Given the description of an element on the screen output the (x, y) to click on. 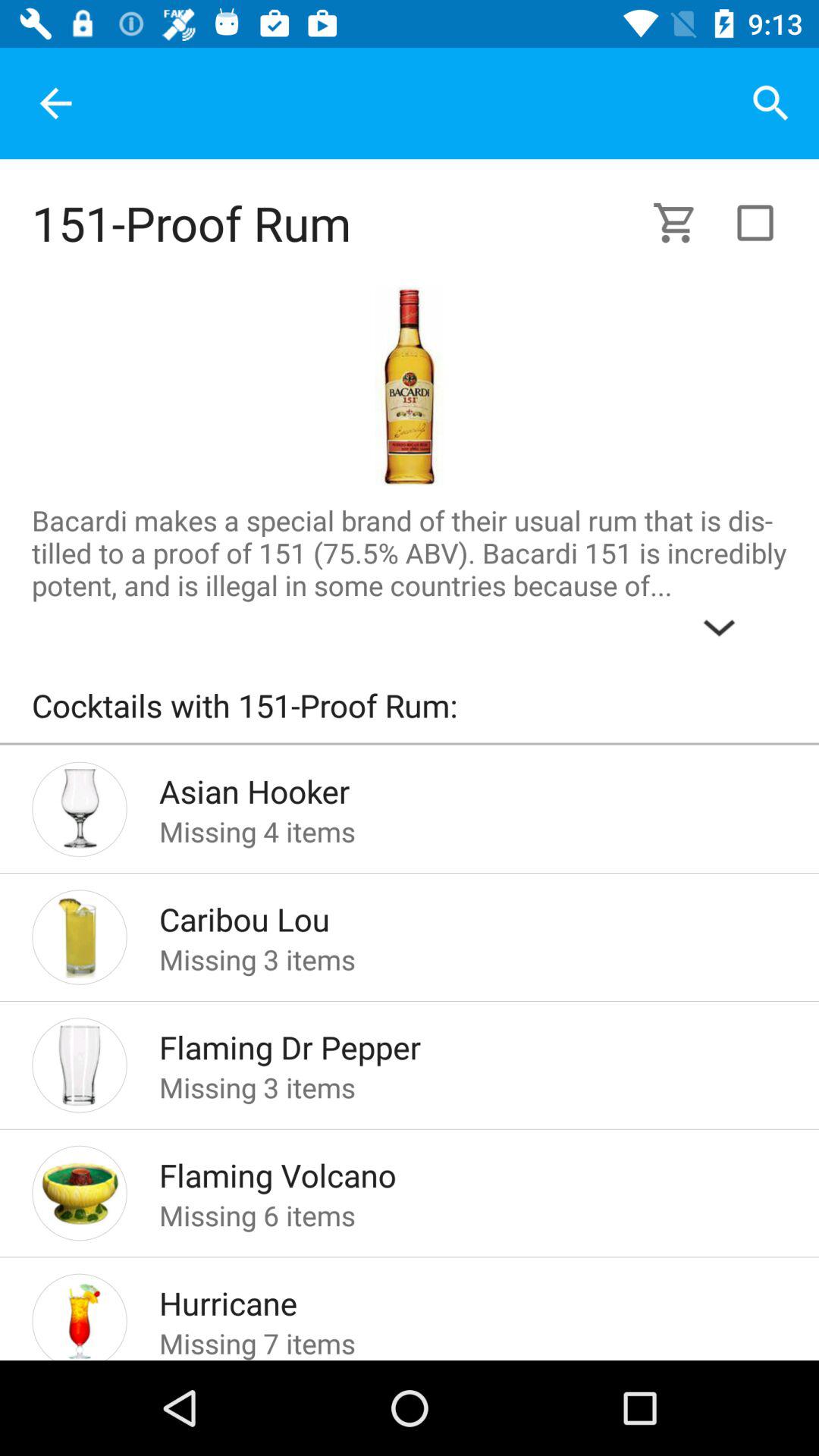
turn on the asian hooker icon (449, 786)
